Given the description of an element on the screen output the (x, y) to click on. 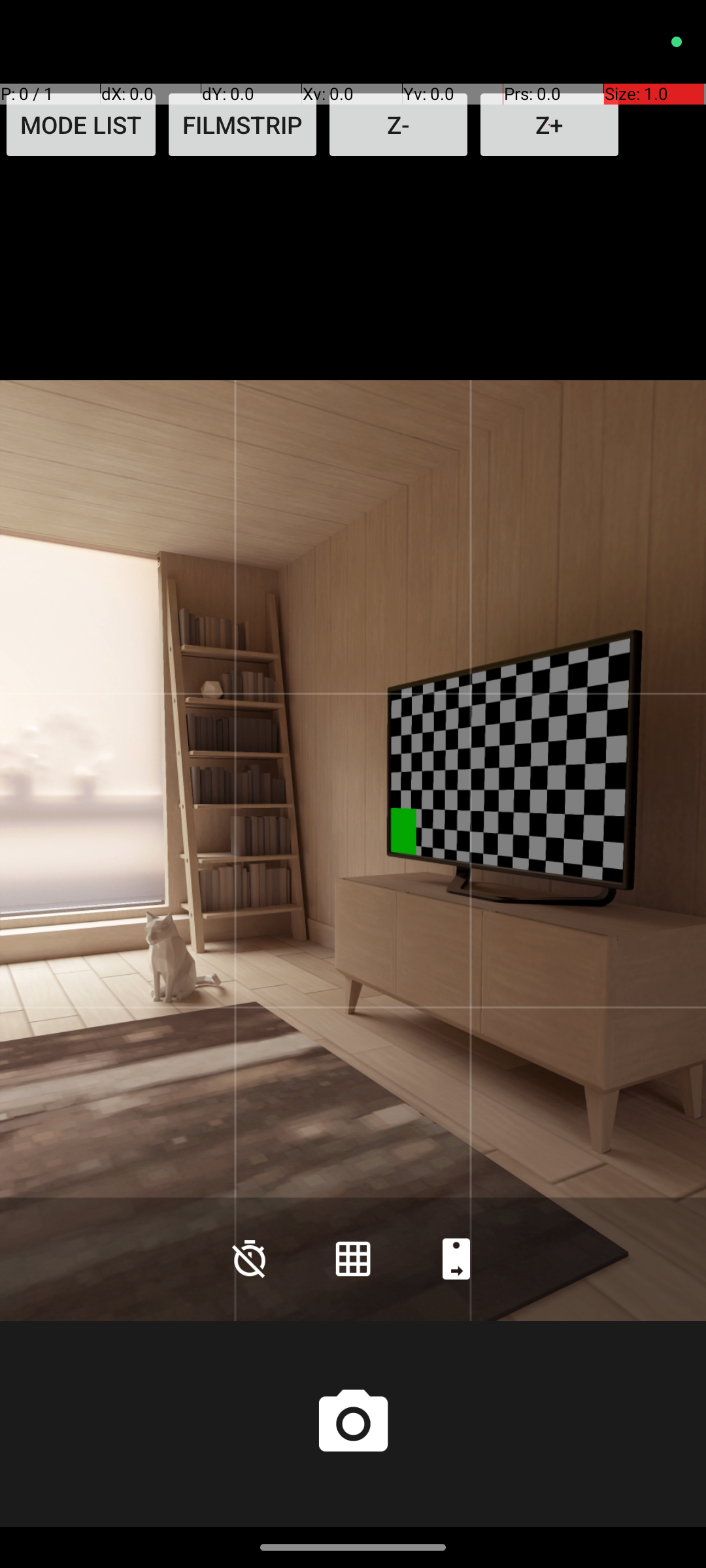
Shutter Element type: android.widget.ImageView (353, 1423)
MODE LIST Element type: android.widget.Button (81, 124)
FILMSTRIP Element type: android.widget.Button (242, 124)
Z- Element type: android.widget.Button (397, 124)
Z+ Element type: android.widget.Button (548, 124)
Countdown timer is off Element type: android.widget.ImageButton (249, 1258)
Grid lines on Element type: android.widget.ImageButton (352, 1258)
Back camera Element type: android.widget.ImageButton (456, 1258)
